Given the description of an element on the screen output the (x, y) to click on. 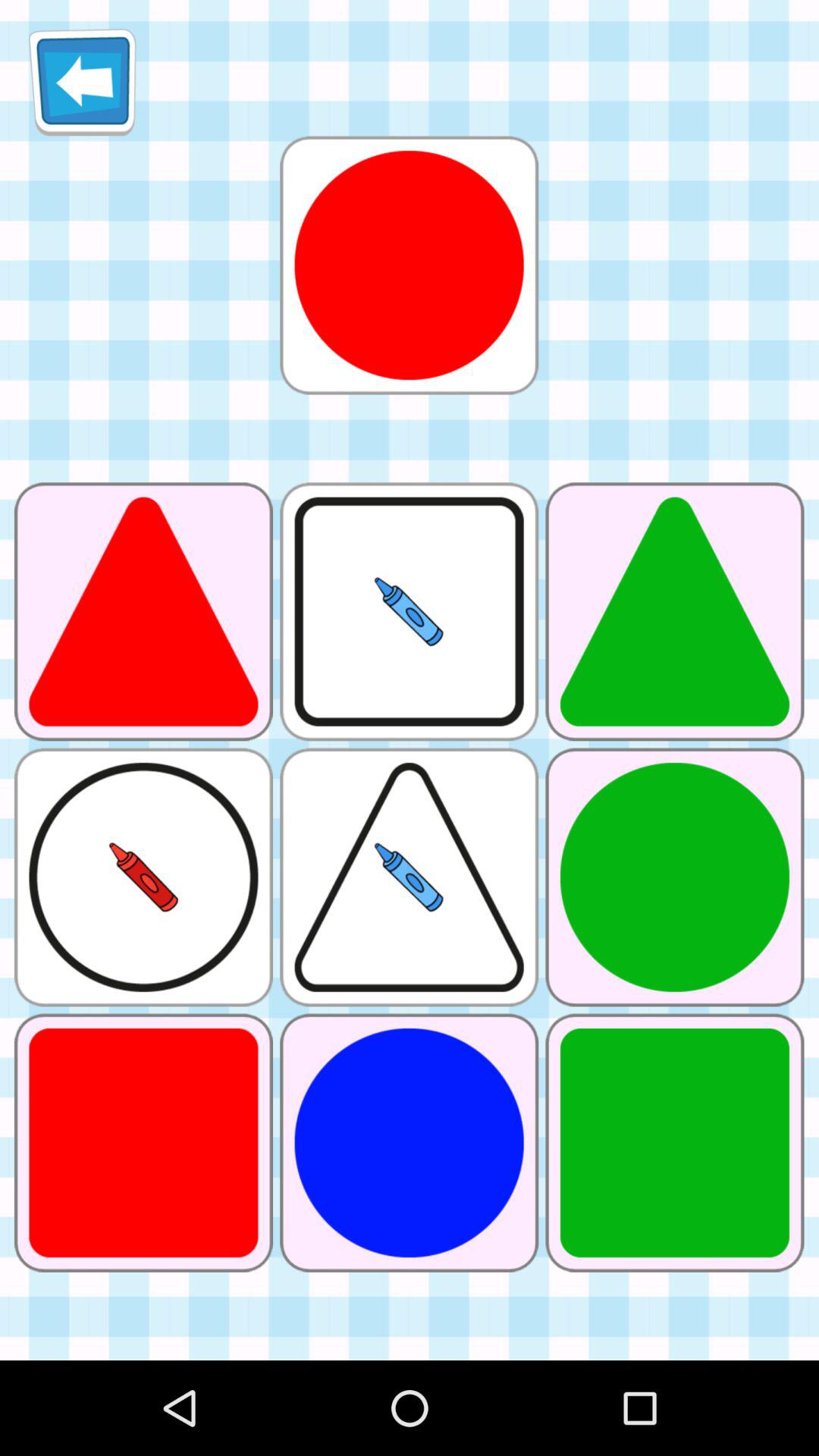
selected shape (409, 265)
